Given the description of an element on the screen output the (x, y) to click on. 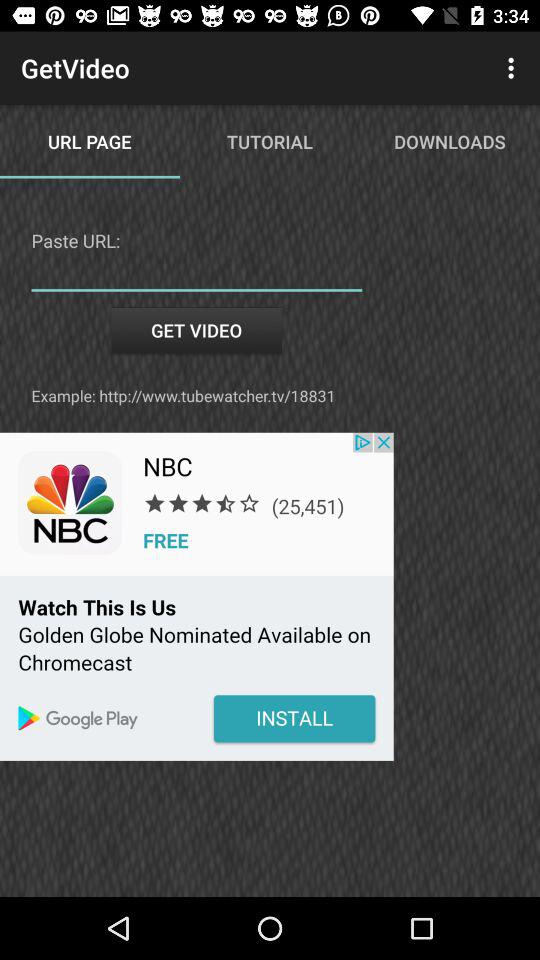
url bar (196, 276)
